Given the description of an element on the screen output the (x, y) to click on. 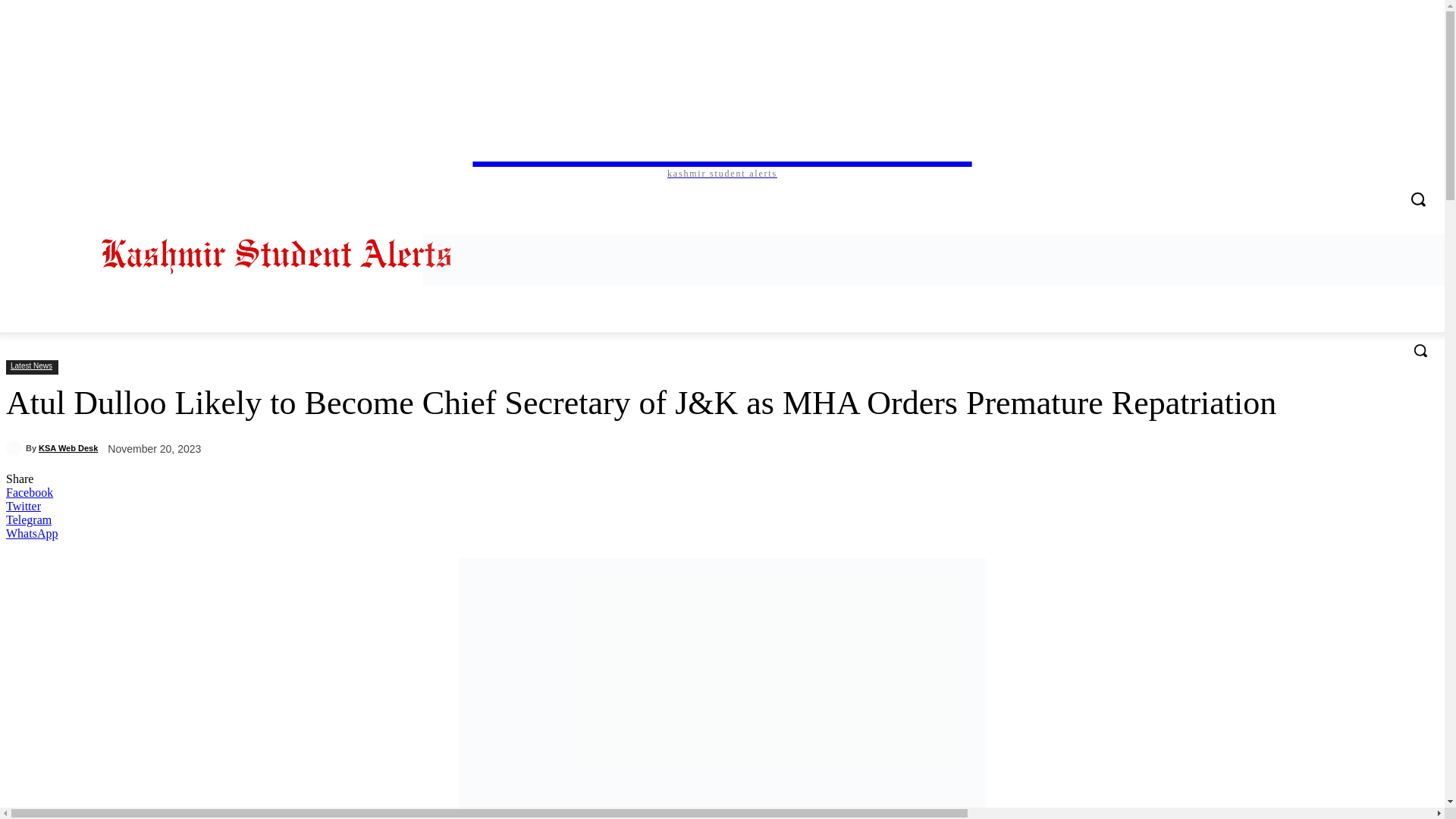
Instagram (1324, 188)
Privacy Policy (394, 188)
Contact Us (237, 188)
Youtube (1387, 188)
Disclaimer (336, 188)
About Us (287, 188)
Twitter (1346, 188)
kashmir student alerts (721, 143)
kashmir student alerts (277, 253)
